Given the description of an element on the screen output the (x, y) to click on. 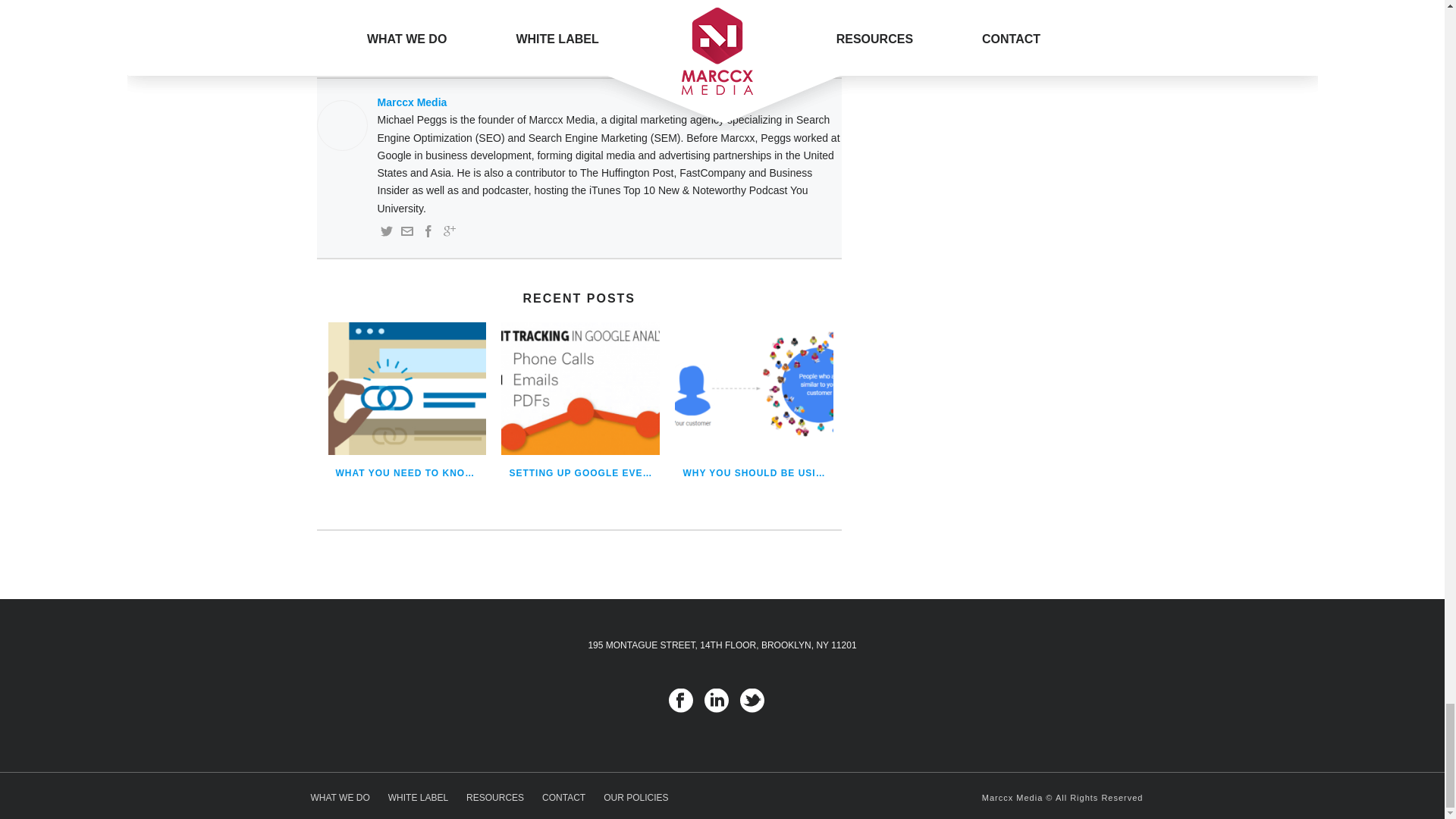
Follow me on Twitter (386, 233)
What You Need to Know About Second-Tier Link Building (406, 388)
Follow me on Facebook (427, 233)
Get in touch with me via email (407, 233)
